Given the description of an element on the screen output the (x, y) to click on. 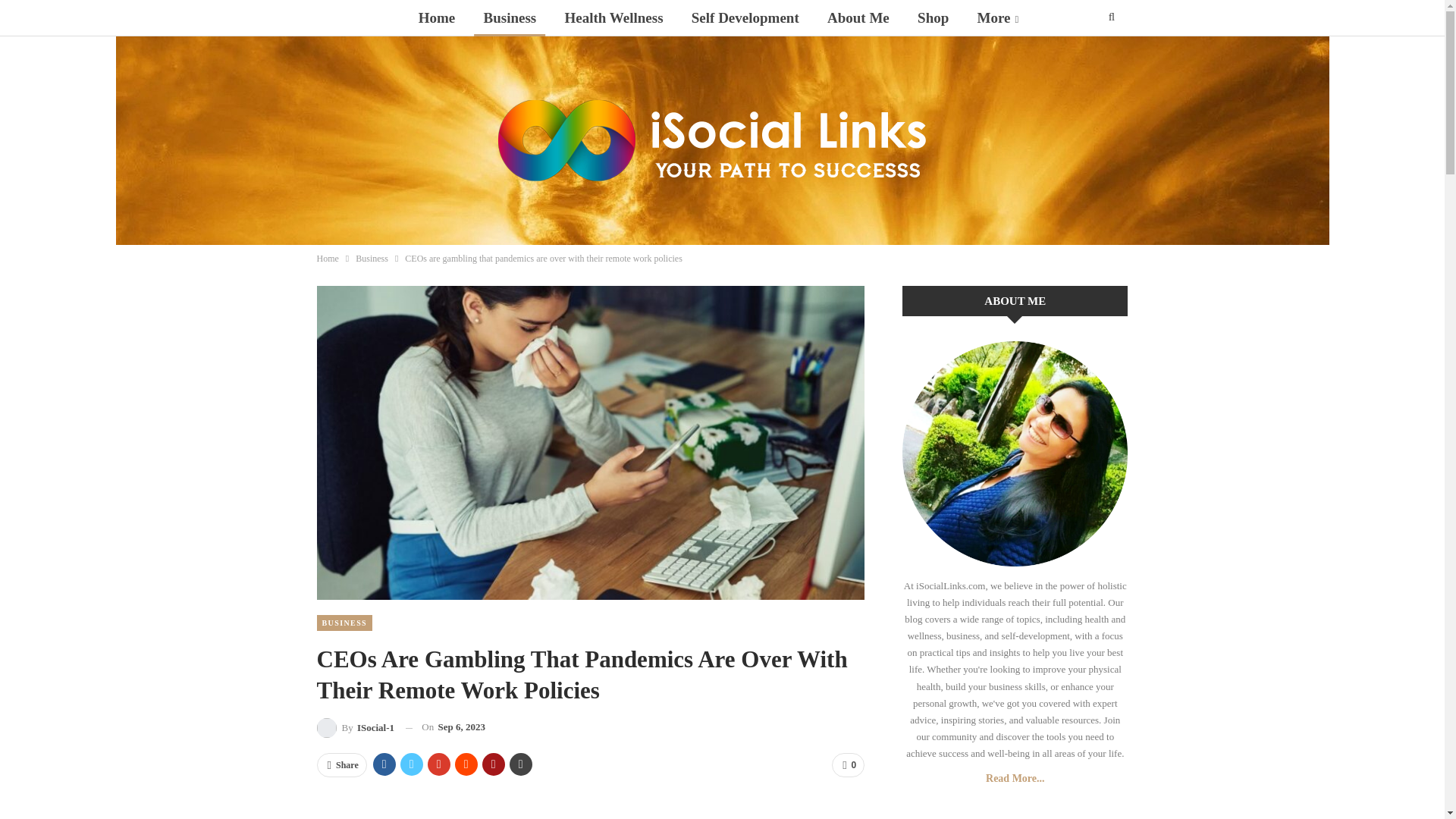
Shop (933, 18)
Home (436, 18)
Self Development (745, 18)
Browse Author Articles (355, 727)
BUSINESS (344, 622)
0 (847, 764)
More (997, 18)
Home (328, 258)
About Me (858, 18)
By ISocial-1 (355, 727)
Health Wellness (614, 18)
Business (371, 258)
Business (510, 18)
